Given the description of an element on the screen output the (x, y) to click on. 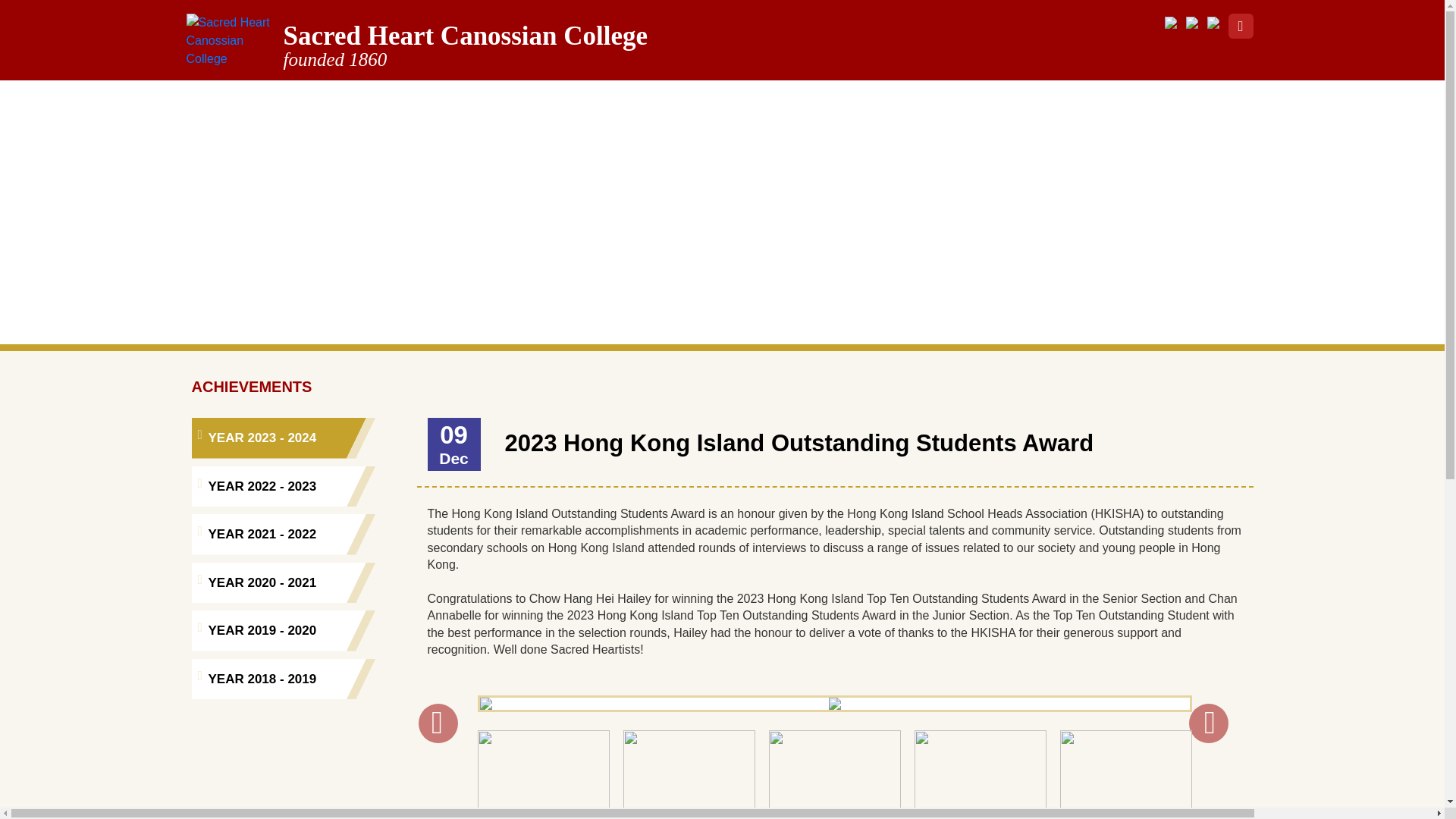
ABOUT SHCC (414, 100)
NEWS (306, 100)
STUDENT SUPPORT (684, 100)
LEARNING (538, 100)
